Given the description of an element on the screen output the (x, y) to click on. 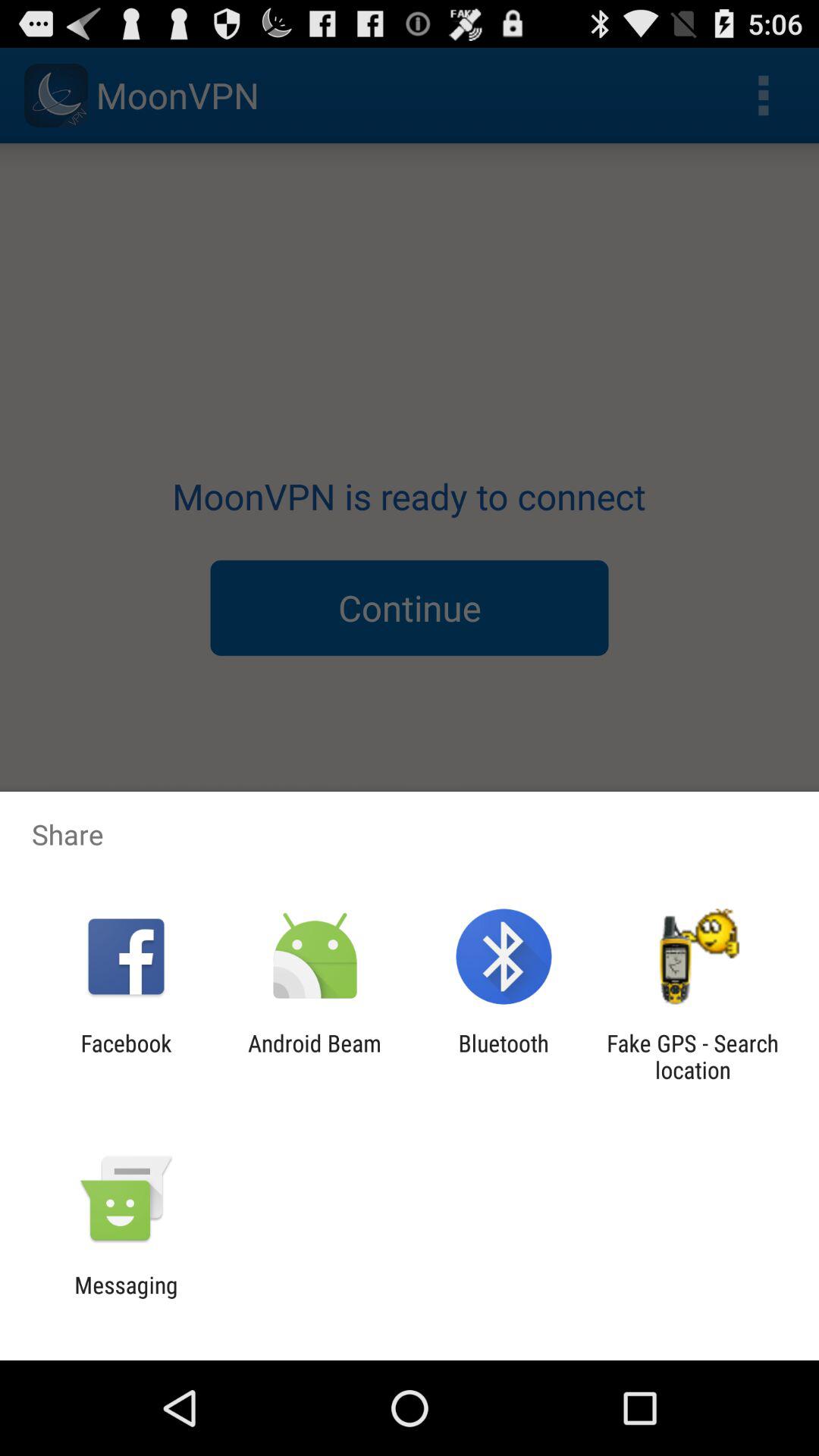
turn off bluetooth item (503, 1056)
